Given the description of an element on the screen output the (x, y) to click on. 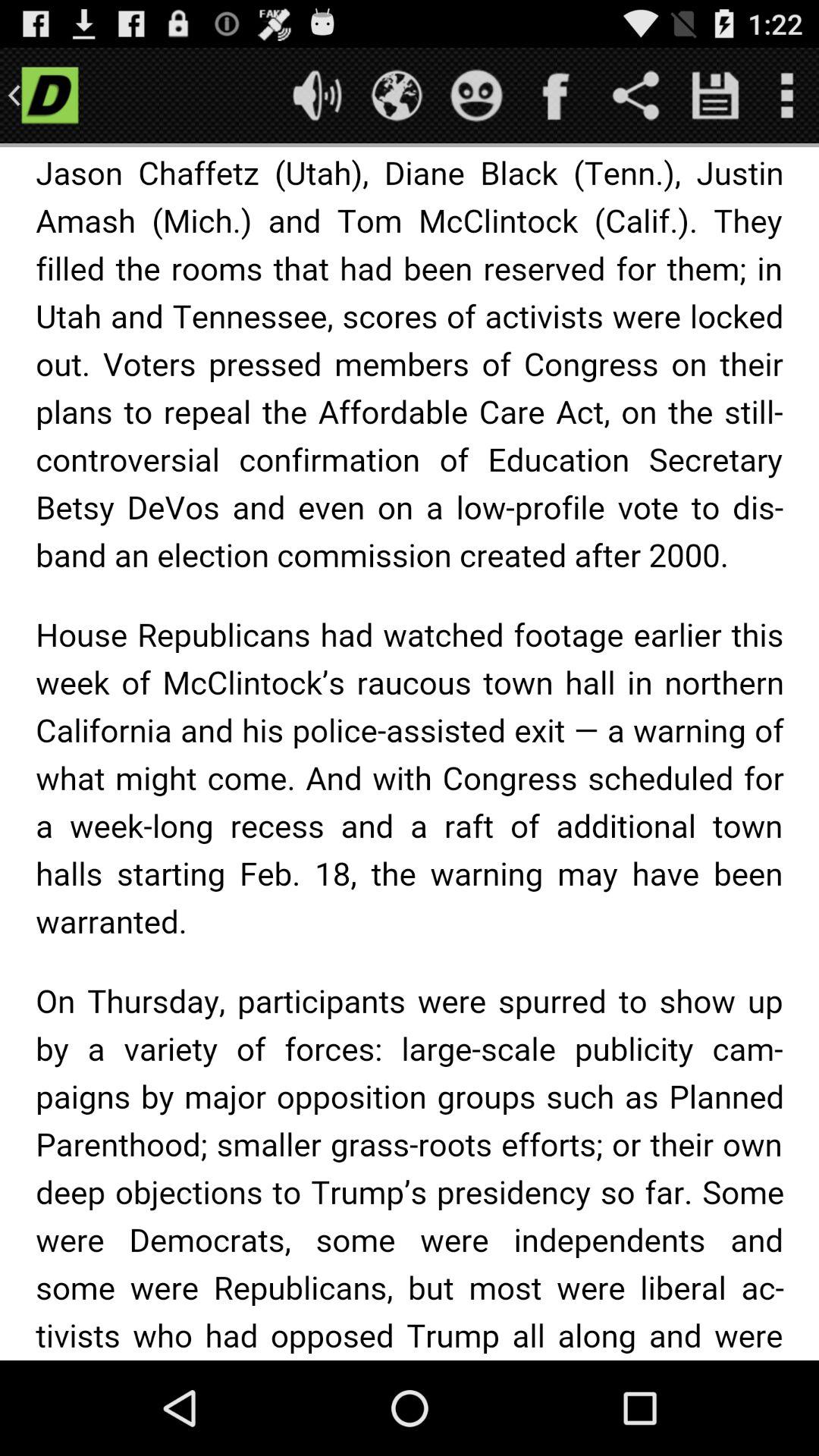
share button (635, 95)
